Given the description of an element on the screen output the (x, y) to click on. 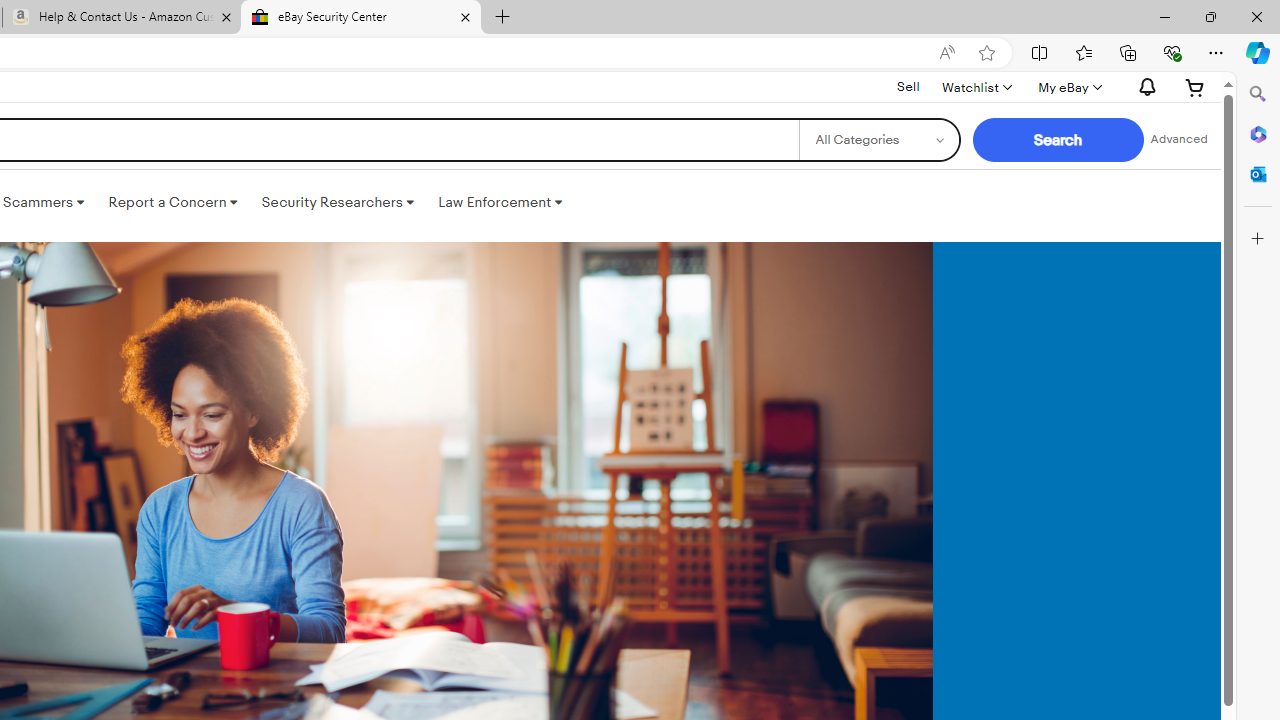
My eBayExpand My eBay (1068, 87)
Law Enforcement  (500, 202)
Law Enforcement  (500, 202)
Your shopping cart (1195, 87)
Expand Cart (1195, 87)
Security Researchers  (337, 202)
Security Researchers  (337, 202)
